Given the description of an element on the screen output the (x, y) to click on. 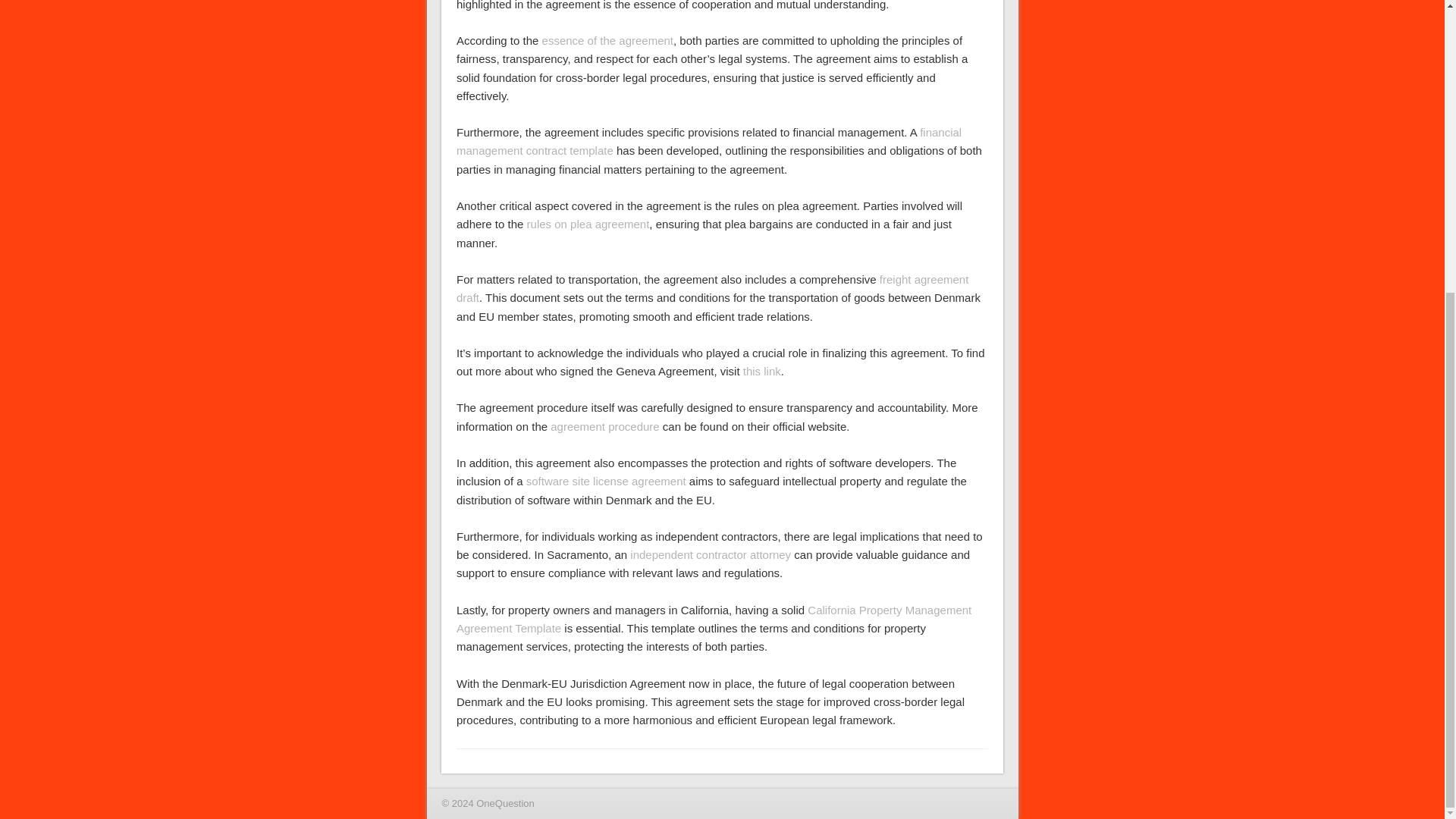
freight agreement draft (712, 287)
California Property Management Agreement Template (714, 618)
independent contractor attorney (710, 554)
this link (761, 370)
essence of the agreement (606, 40)
financial management contract template (708, 141)
agreement procedure (604, 426)
rules on plea agreement (588, 223)
software site license agreement (605, 481)
